Given the description of an element on the screen output the (x, y) to click on. 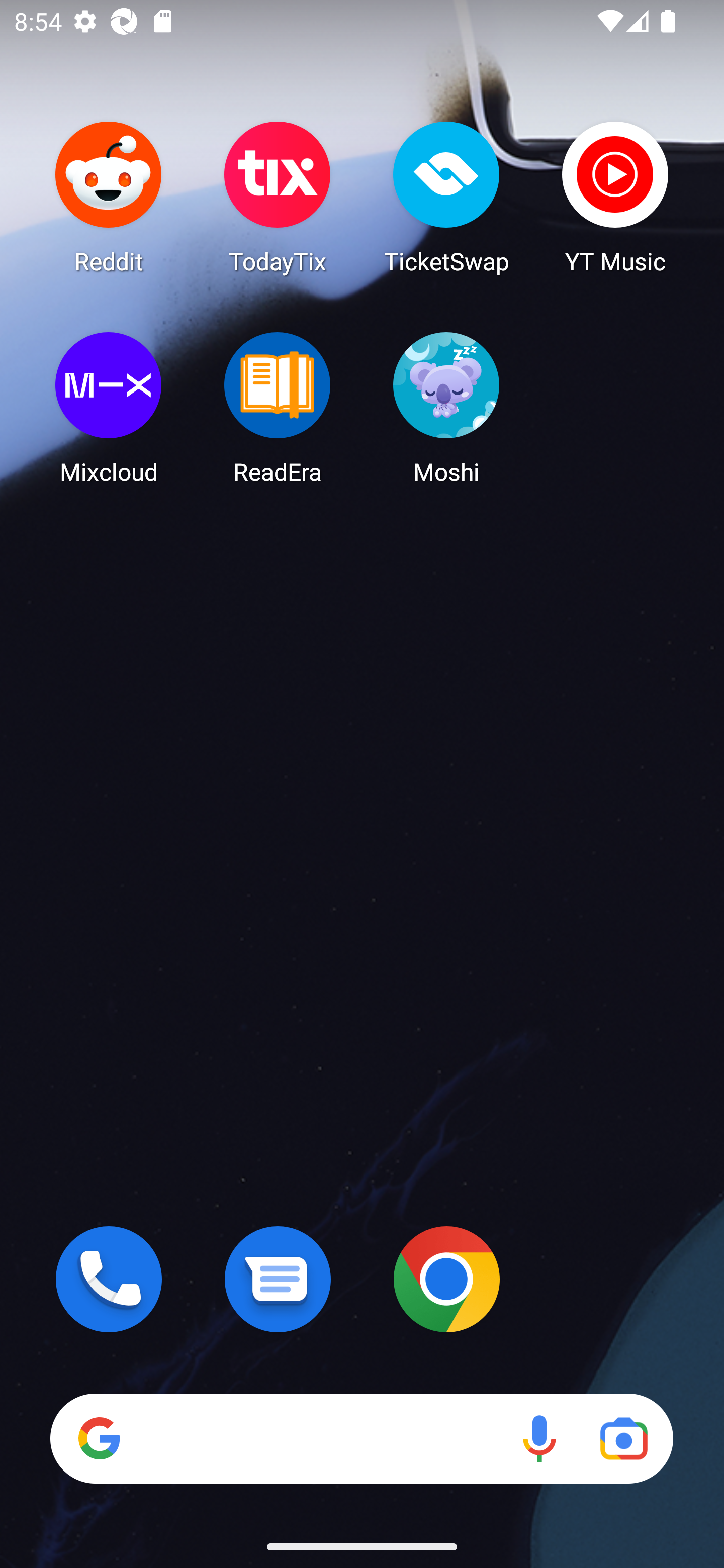
Reddit (108, 196)
TodayTix (277, 196)
TicketSwap (445, 196)
YT Music (615, 196)
Mixcloud (108, 407)
ReadEra (277, 407)
Moshi (445, 407)
Phone (108, 1279)
Messages (277, 1279)
Chrome (446, 1279)
Voice search (539, 1438)
Google Lens (623, 1438)
